Given the description of an element on the screen output the (x, y) to click on. 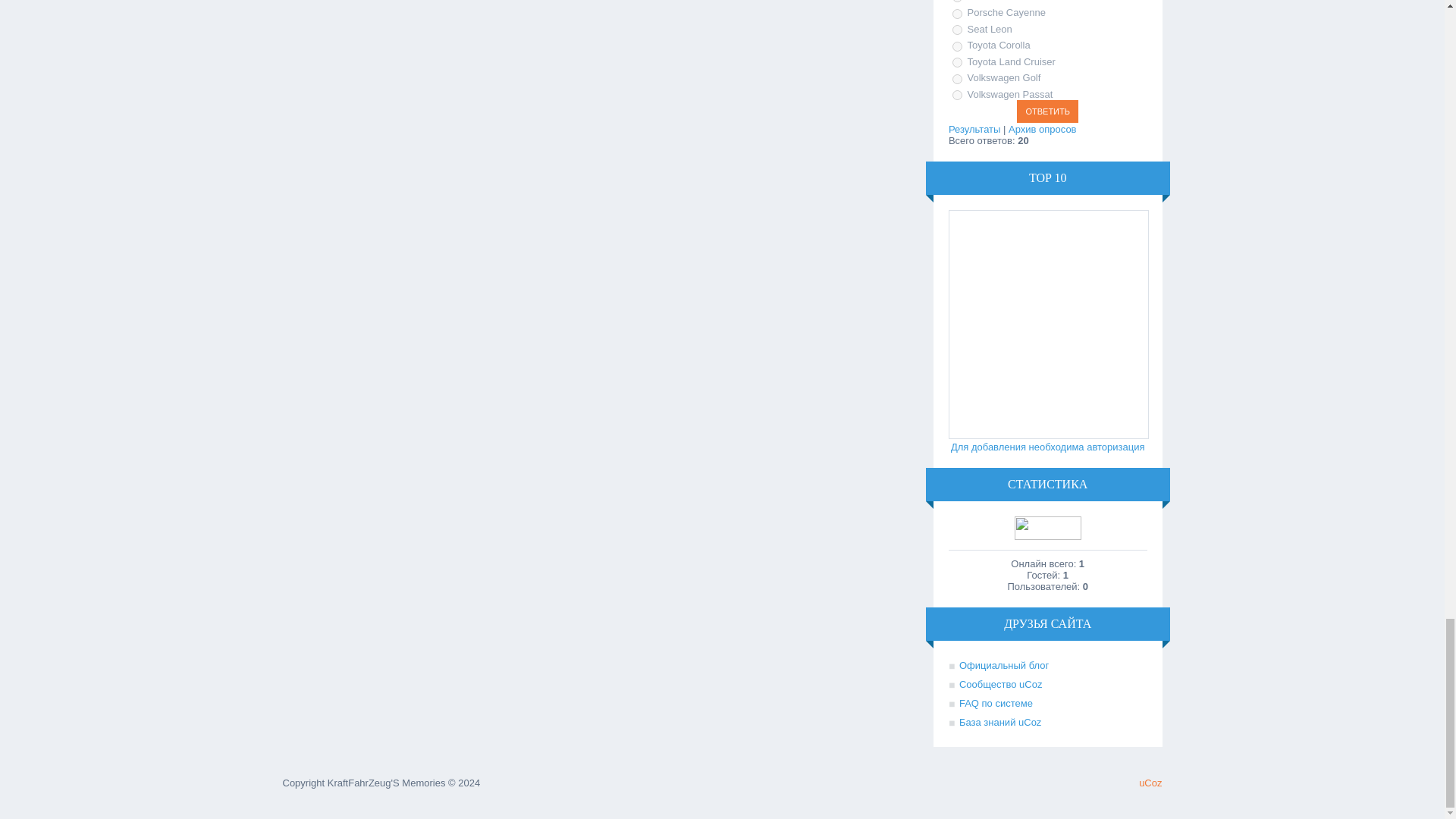
13 (957, 62)
11 (957, 30)
14 (957, 79)
10 (957, 13)
12 (957, 46)
15 (957, 94)
